Given the description of an element on the screen output the (x, y) to click on. 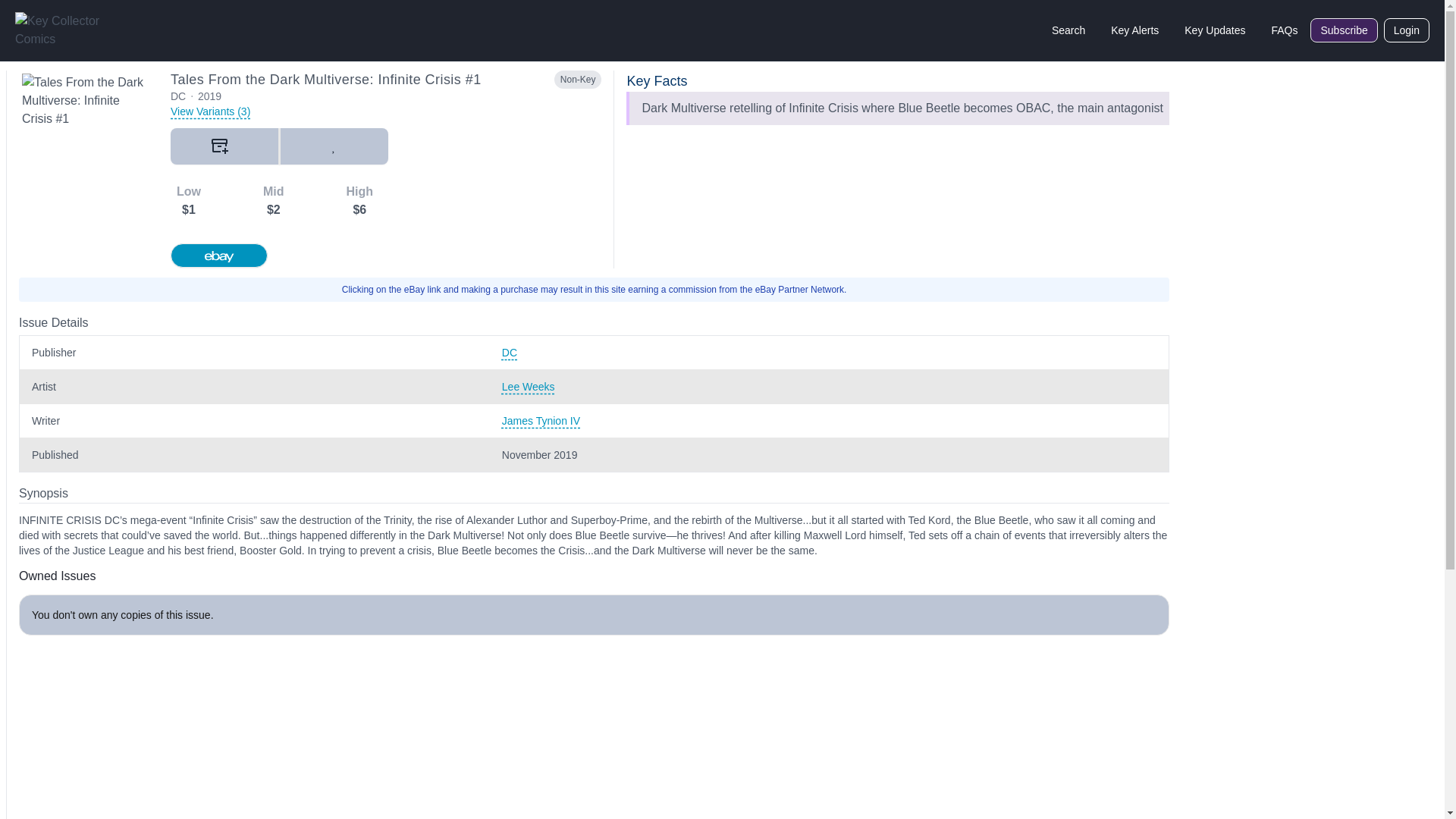
DC (829, 352)
Subscribe (1343, 30)
FAQs (1283, 30)
Login (1406, 30)
Key Alerts (1134, 30)
James Tynion IV (829, 420)
Lee Weeks (829, 386)
Key Updates (1214, 30)
